Given the description of an element on the screen output the (x, y) to click on. 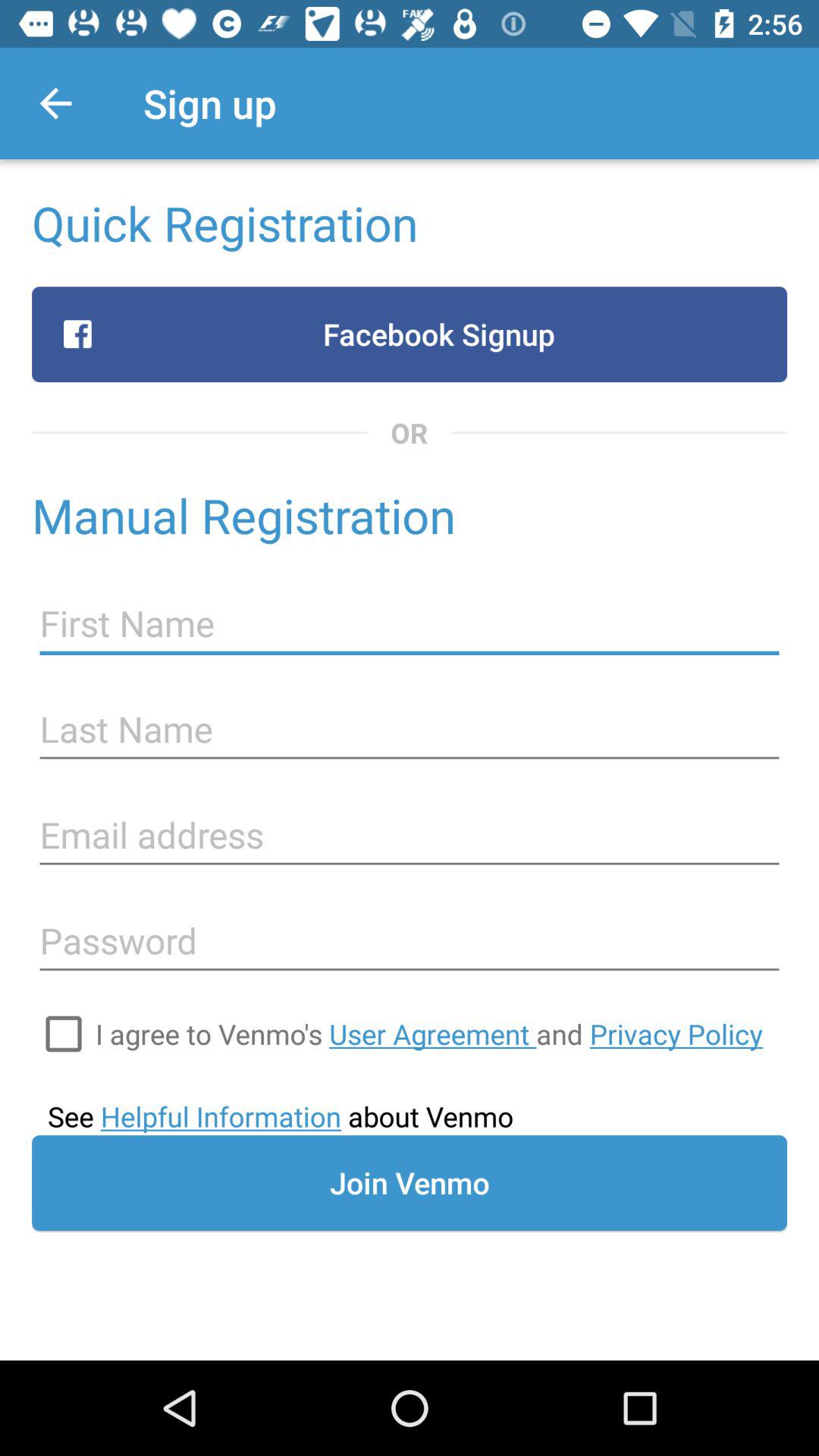
type first name (409, 623)
